Given the description of an element on the screen output the (x, y) to click on. 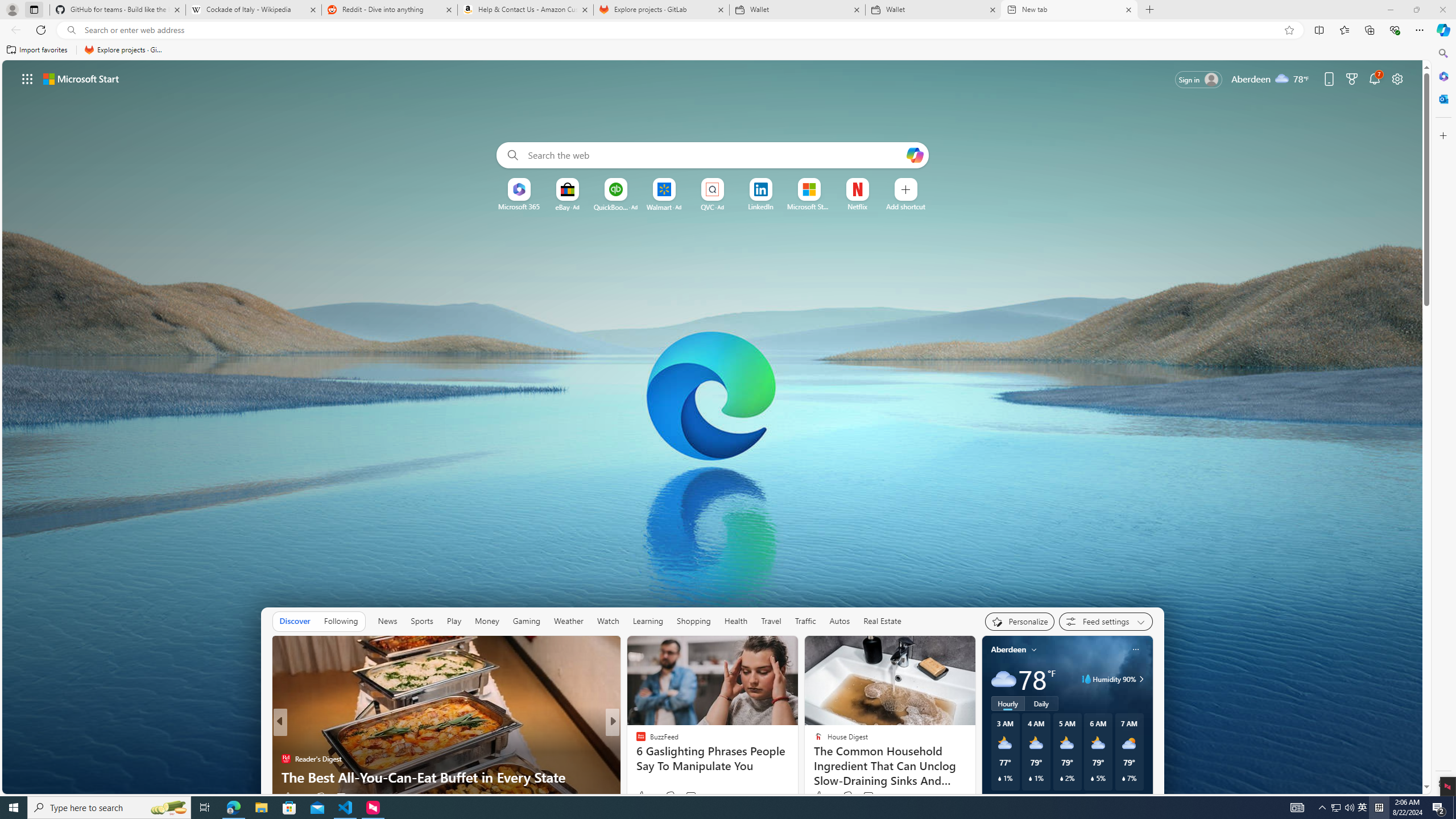
My location (1033, 649)
Running applications (707, 807)
Cloudy (1003, 678)
Wallet (933, 9)
Sports (421, 621)
Learning (648, 621)
Following (340, 621)
Following (341, 621)
News (387, 621)
Class: weather-current-precipitation-glyph (1123, 778)
